Given the description of an element on the screen output the (x, y) to click on. 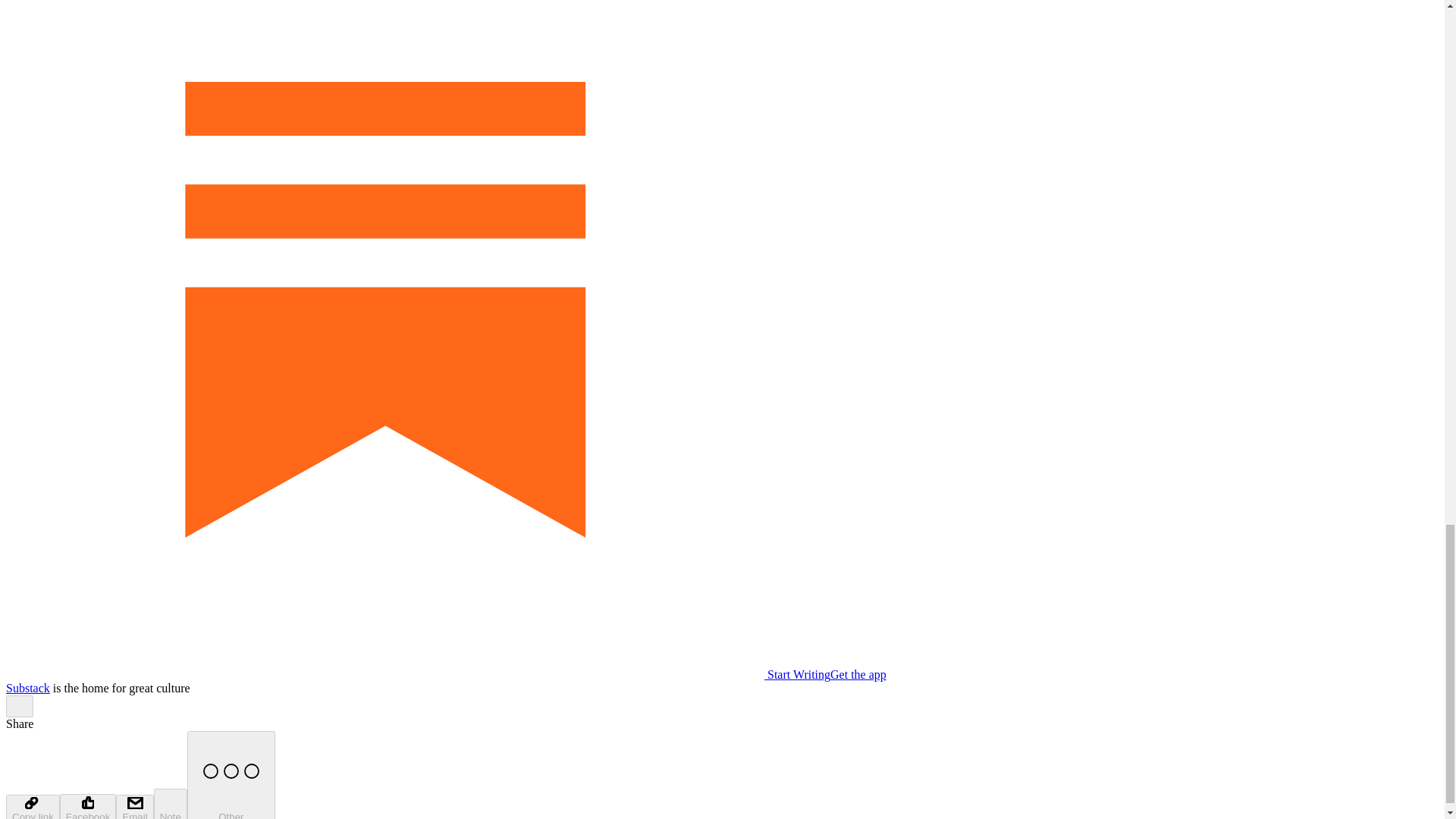
Start Writing (417, 674)
Get the app (857, 674)
Substack (27, 687)
